Given the description of an element on the screen output the (x, y) to click on. 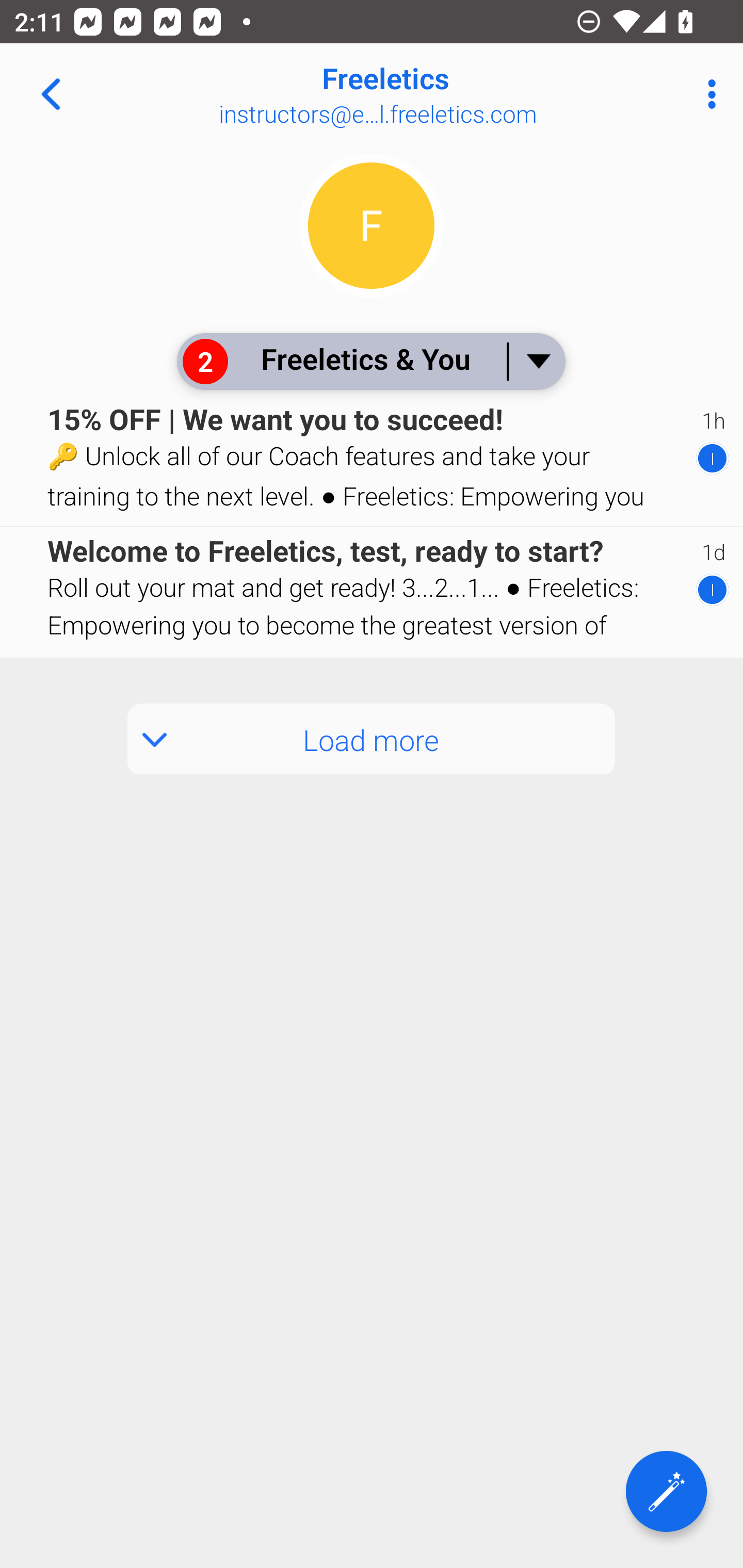
Navigate up (50, 93)
Freeletics instructors@email.freeletics.com (436, 93)
More Options (706, 93)
2 Freeletics & You (370, 361)
Load more (371, 739)
